Given the description of an element on the screen output the (x, y) to click on. 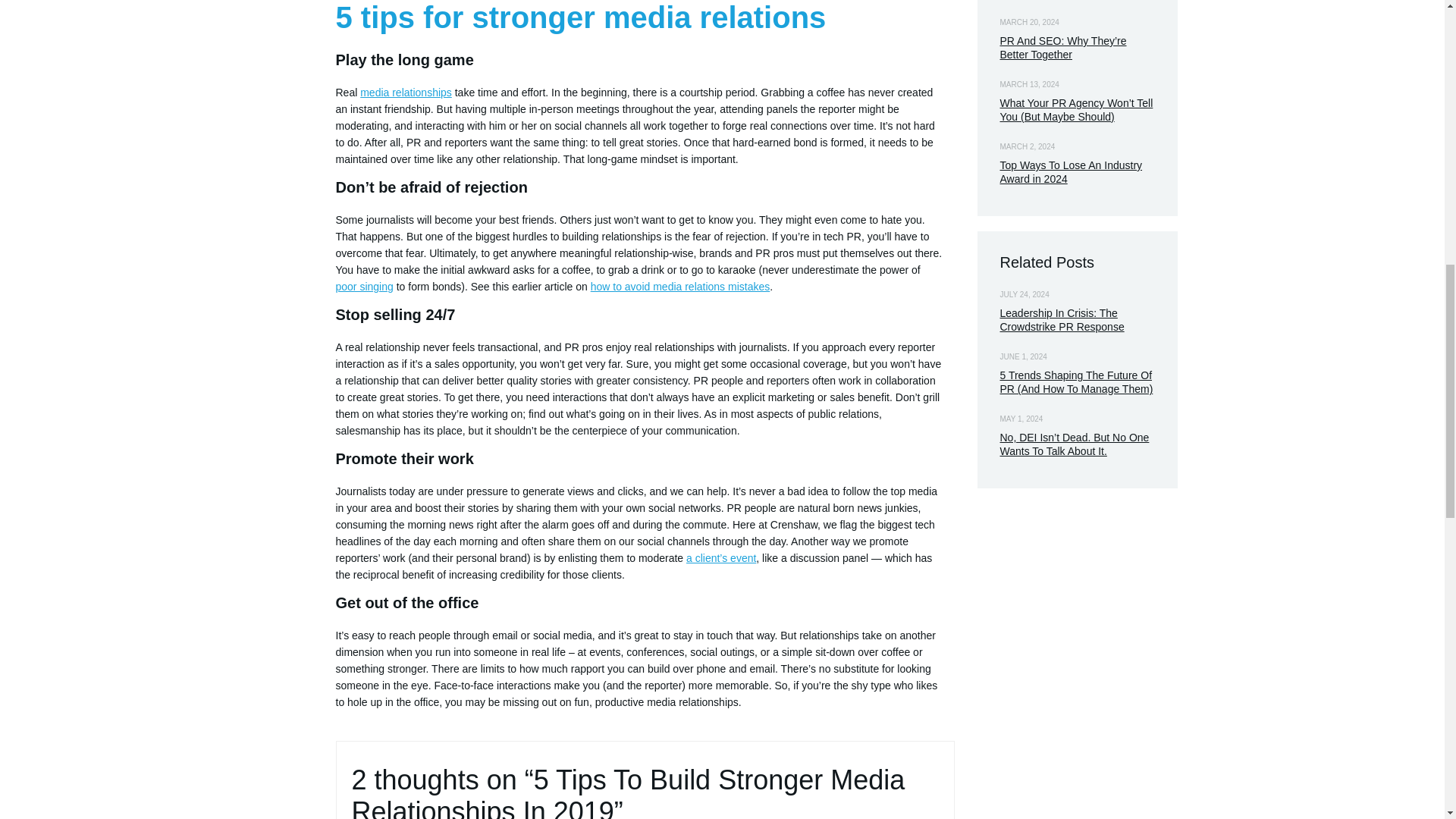
how to avoid media relations mistakes (680, 286)
media relationships (405, 92)
poor singing (363, 286)
Leadership In Crisis: The Crowdstrike PR Response (1061, 319)
Top Ways To Lose An Industry Award in 2024 (1069, 171)
